Given the description of an element on the screen output the (x, y) to click on. 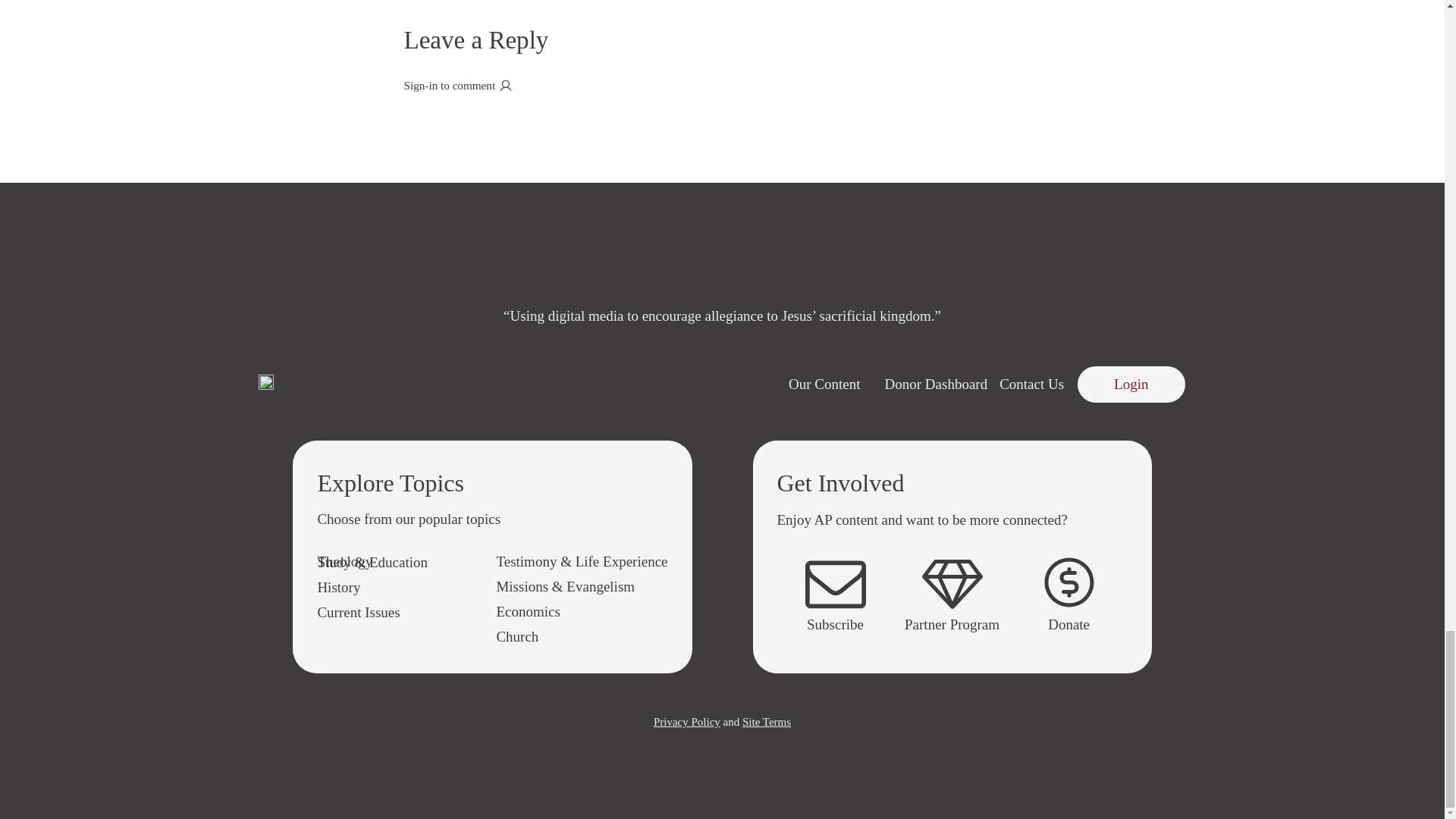
Contact Us (1031, 384)
Sign-in to comment (722, 85)
Donor Dashboard (936, 384)
Login (1130, 384)
Our Content (824, 384)
Theology (344, 561)
